Given the description of an element on the screen output the (x, y) to click on. 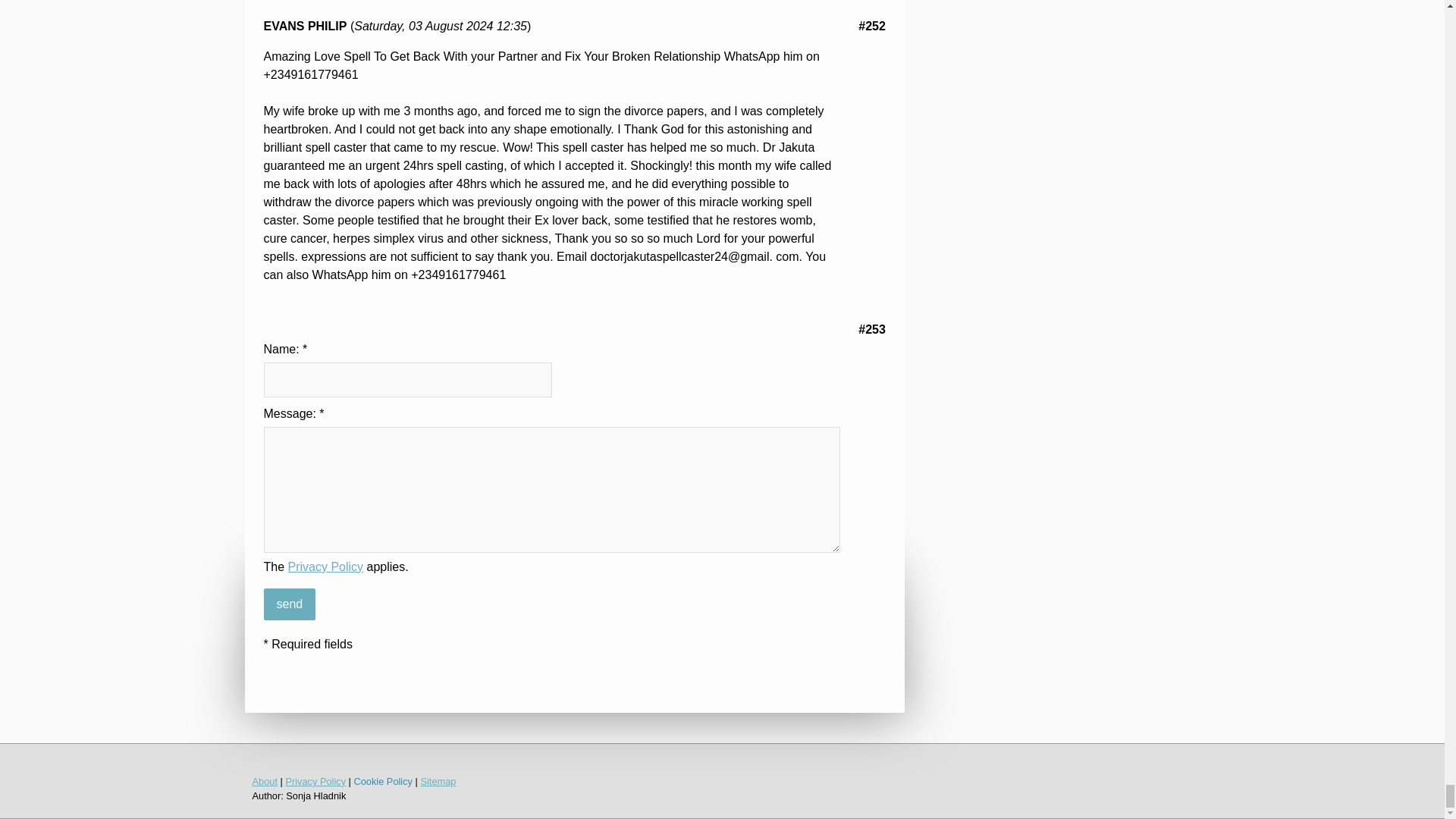
send (289, 603)
